Given the description of an element on the screen output the (x, y) to click on. 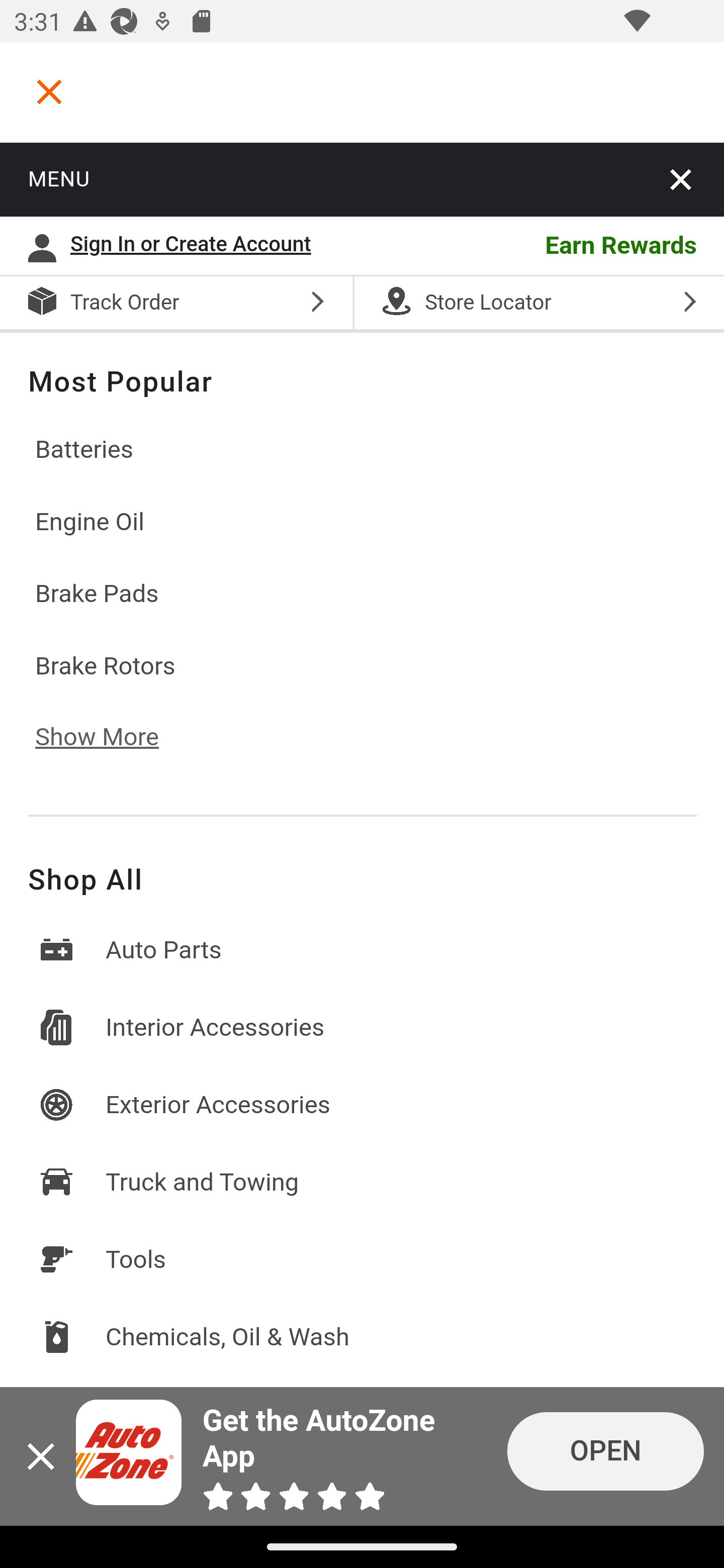
 (49, 91)
close (681, 179)
Sign In or Create Account (196, 246)
Earn Rewards (530, 246)
Track Order Track Order Track Order (176, 302)
Store Locator (538, 302)
Track Order (125, 303)
Batteries Batteries Batteries (362, 450)
Engine Oil Engine Oil Engine Oil (362, 521)
Brake Pads Brake Pads Brake Pads (362, 594)
Brake Rotors Brake Rotors Brake Rotors (362, 665)
Show More (362, 738)
Show More (110, 737)
Auto Parts (362, 949)
Interior Accessories (362, 1026)
Exterior Accessories (362, 1104)
Truck and Towing (362, 1182)
Tools (362, 1259)
Chemicals, Oil & Wash (362, 1337)
Close icon Get the AutoZone App OPEN (362, 1456)
